Given the description of an element on the screen output the (x, y) to click on. 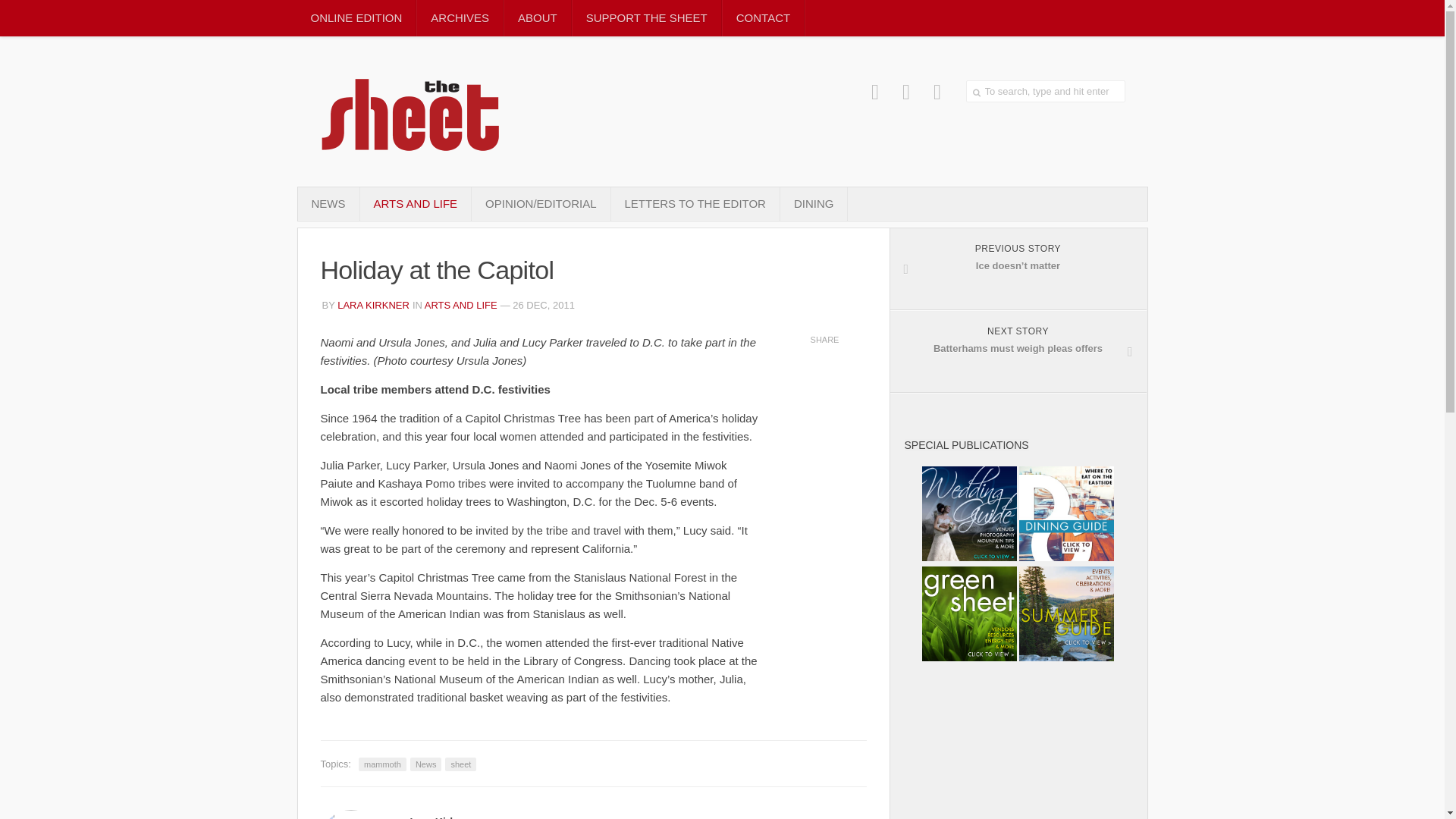
NEWS (327, 203)
Posts by Lara Kirkner (373, 305)
SUPPORT THE SHEET (646, 18)
ARTS AND LIFE (414, 203)
RSS feed (936, 92)
Follow The Sheet on Twitter (906, 92)
The Sheet on Facebook (874, 92)
News (426, 764)
ONLINE EDITION (356, 18)
LARA KIRKNER (373, 305)
